Given the description of an element on the screen output the (x, y) to click on. 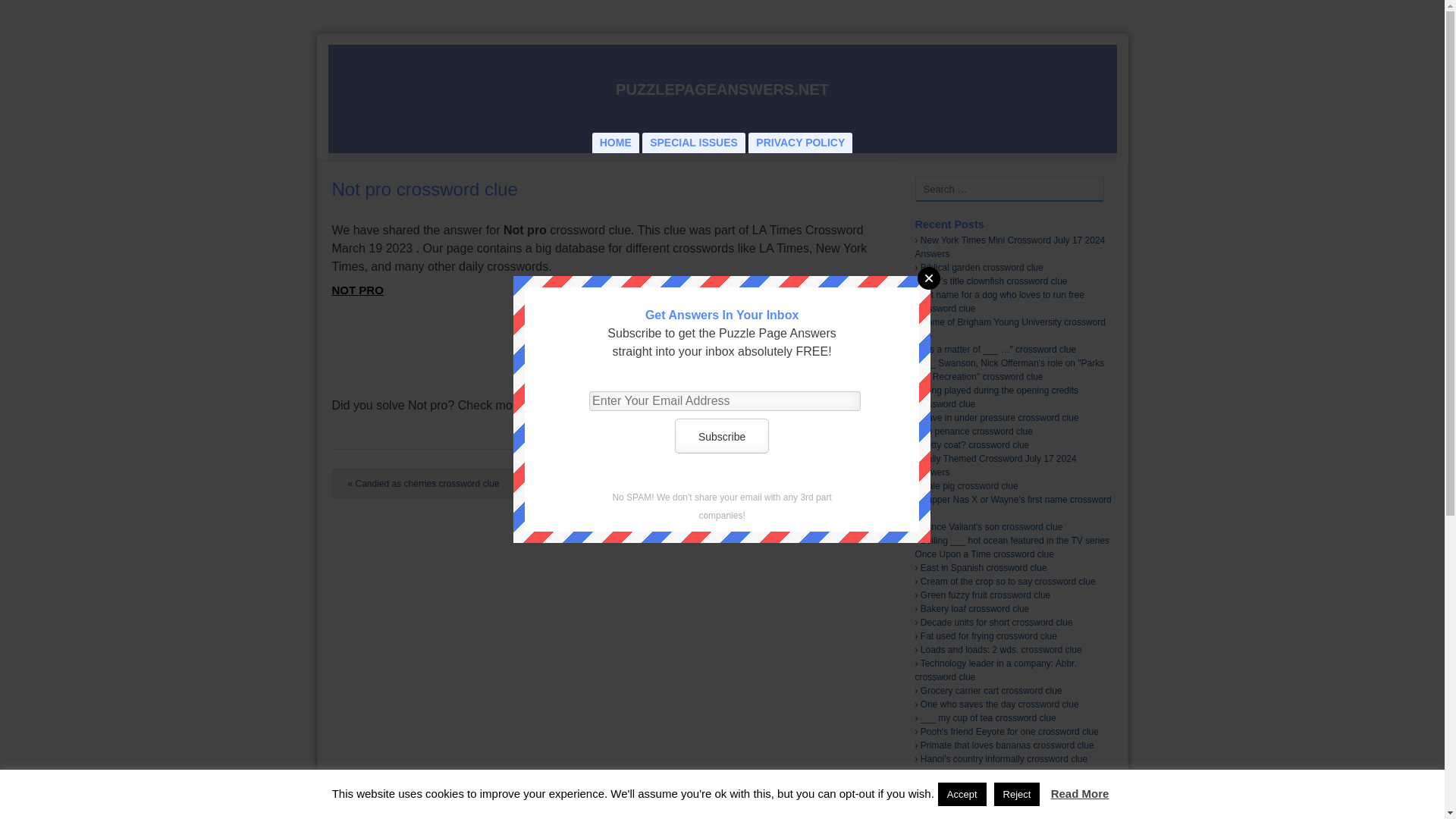
Do penance crossword clue (976, 430)
One who saves the day crossword clue (999, 704)
Gave in under pressure crossword clue (999, 417)
Daily Themed Crossword July 17 2024 Answers (994, 465)
Cream of the crop so to say crossword clue (1008, 581)
Fat used for frying crossword clue (988, 635)
Rapper Nas X or Wayne's first name crossword clue (1012, 506)
HOME (615, 142)
Bakery loaf crossword clue (974, 608)
SPECIAL ISSUES (693, 142)
Home of Brigham Young University crossword clue (1009, 328)
Apt name for a dog who loves to run free crossword clue (998, 301)
Male pig crossword clue (968, 485)
Grocery carrier cart crossword clue (991, 690)
PUZZLEPAGEANSWERS.NET (721, 89)
